Given the description of an element on the screen output the (x, y) to click on. 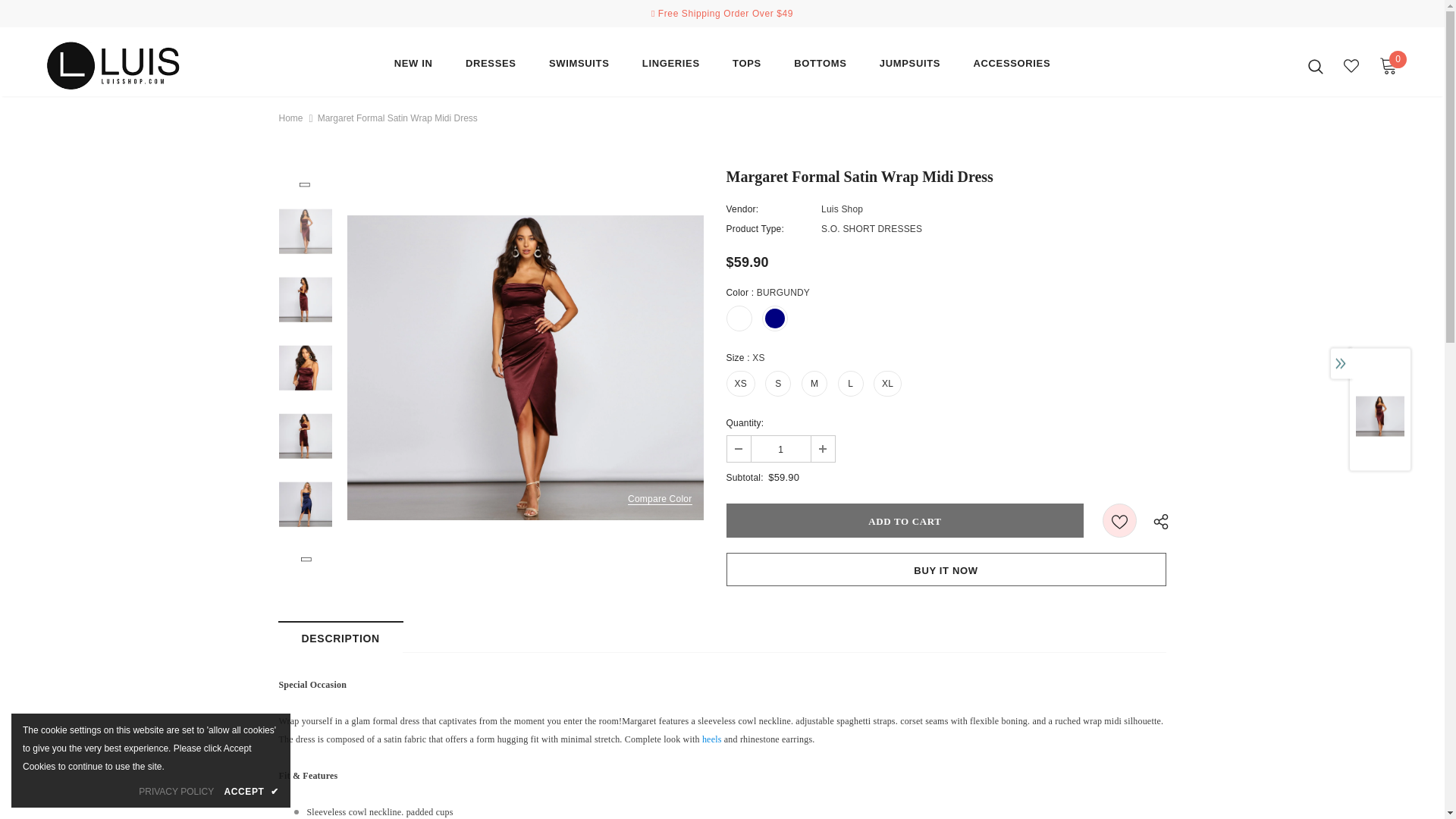
Search Icon (1315, 65)
DRESSES (490, 66)
ACCESSORIES (1010, 66)
LINGERIES (671, 66)
Logo (134, 65)
JUMPSUITS (909, 66)
BOTTOMS (819, 66)
SWIMSUITS (579, 66)
1 (780, 448)
NEW IN (413, 66)
0 (1387, 65)
Home (290, 117)
Add to cart (905, 520)
